Given the description of an element on the screen output the (x, y) to click on. 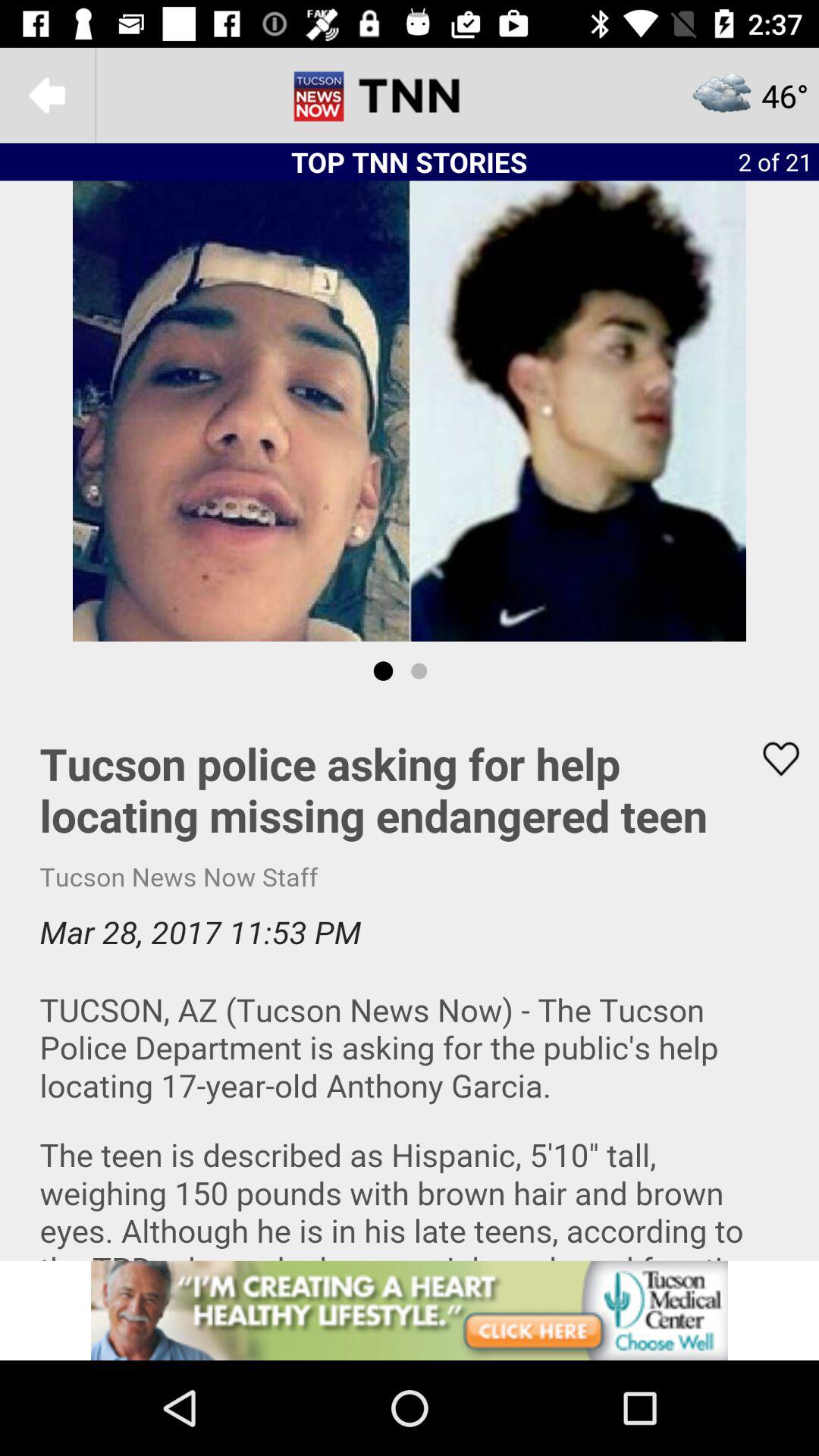
advetisement link (409, 1310)
